Given the description of an element on the screen output the (x, y) to click on. 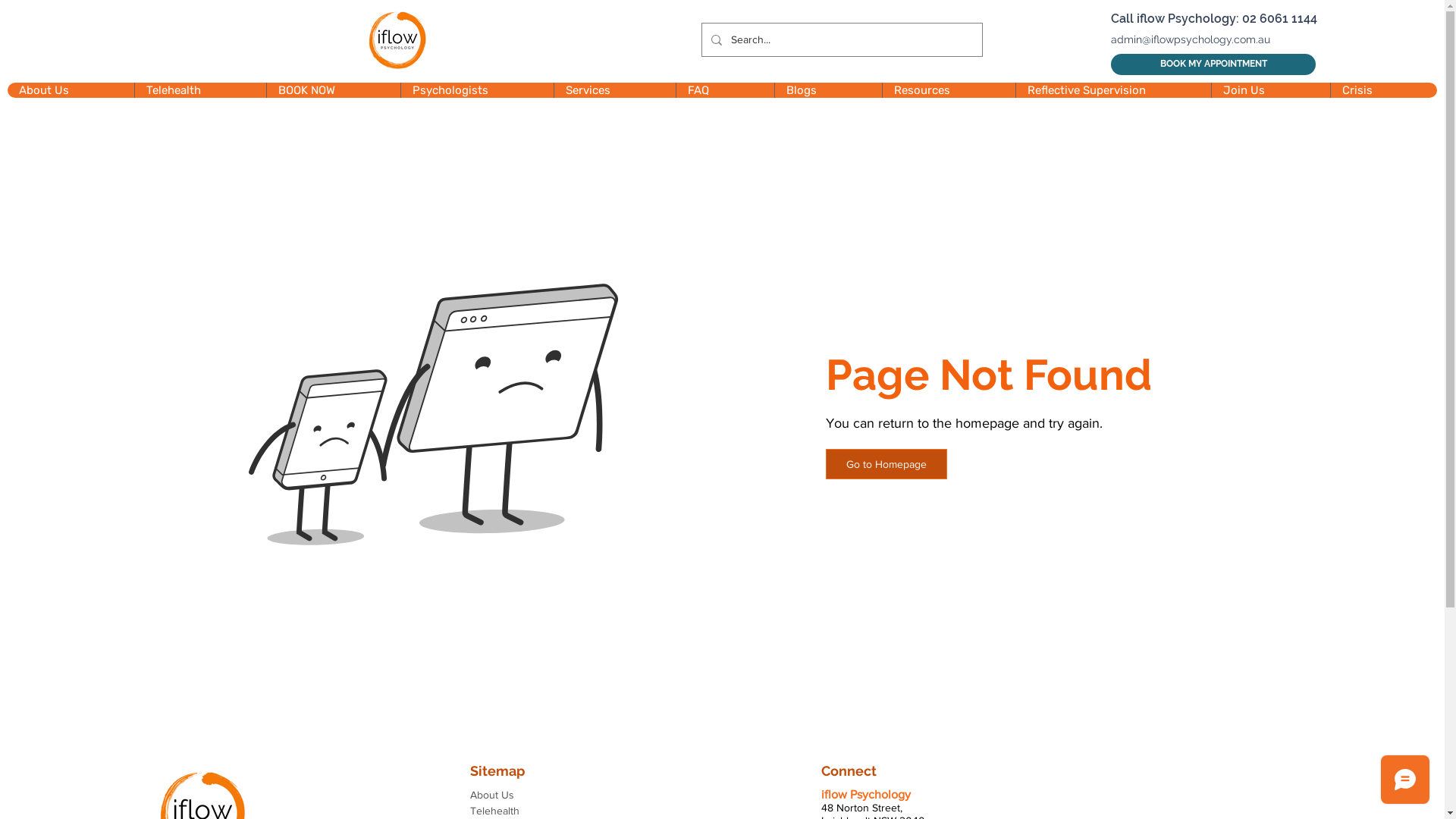
Call iflow Psychology: 02 6061 1144 Element type: text (1213, 18)
Reflective Supervision Element type: text (1113, 89)
Telehealth Element type: text (200, 89)
Crisis Element type: text (1383, 89)
FAQ Element type: text (724, 89)
Blogs Element type: text (827, 89)
Join Us Element type: text (1270, 89)
About Us Element type: text (530, 795)
iflow-Psychology-logo Element type: hover (396, 39)
BOOK NOW Element type: text (333, 89)
About Us Element type: text (70, 89)
Connect Element type: text (848, 770)
iflow Psychology Element type: text (865, 793)
Psychologists Element type: text (476, 89)
admin@iflowpsychology.com.au Element type: text (1190, 39)
Services Element type: text (614, 89)
